Given the description of an element on the screen output the (x, y) to click on. 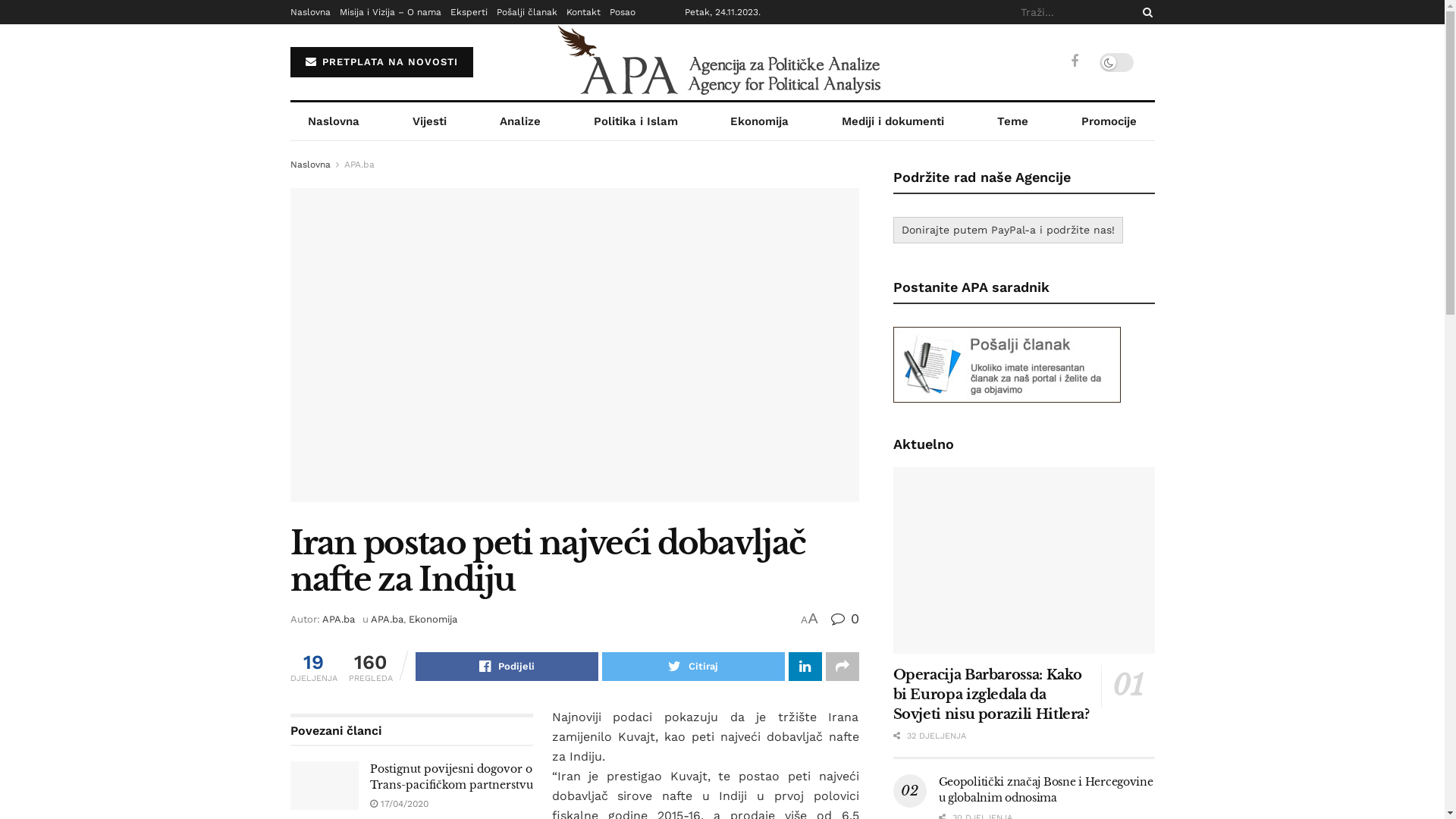
Podijeli Element type: text (506, 666)
Ekonomija Element type: text (759, 121)
Posao Element type: text (622, 12)
Naslovna Element type: text (309, 12)
Citiraj Element type: text (693, 666)
0 Element type: text (845, 618)
APA.ba Element type: text (337, 618)
17/04/2020 Element type: text (399, 803)
Analize Element type: text (519, 121)
APA.ba Element type: text (359, 164)
PRETPLATA NA NOVOSTI Element type: text (380, 62)
Vijesti Element type: text (429, 121)
Promocije Element type: text (1108, 121)
Mediji i dokumenti Element type: text (892, 121)
Eksperti Element type: text (468, 12)
Politika i Islam Element type: text (635, 121)
Ekonomija Element type: text (431, 618)
Naslovna Element type: text (309, 164)
Naslovna Element type: text (333, 121)
Teme Element type: text (1012, 121)
Kontakt Element type: text (582, 12)
APA.ba Element type: text (386, 618)
